Given the description of an element on the screen output the (x, y) to click on. 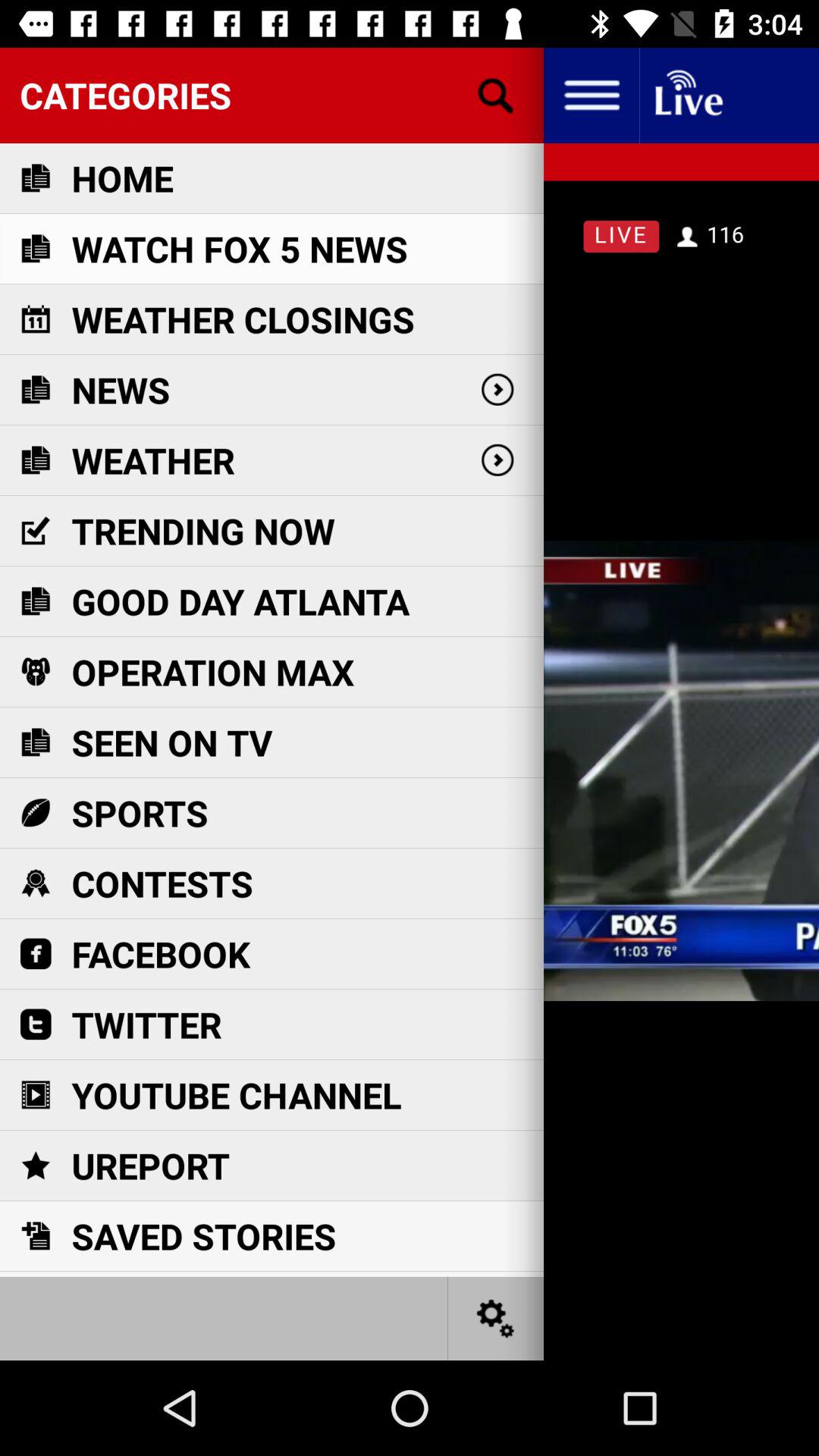
go live (687, 95)
